Given the description of an element on the screen output the (x, y) to click on. 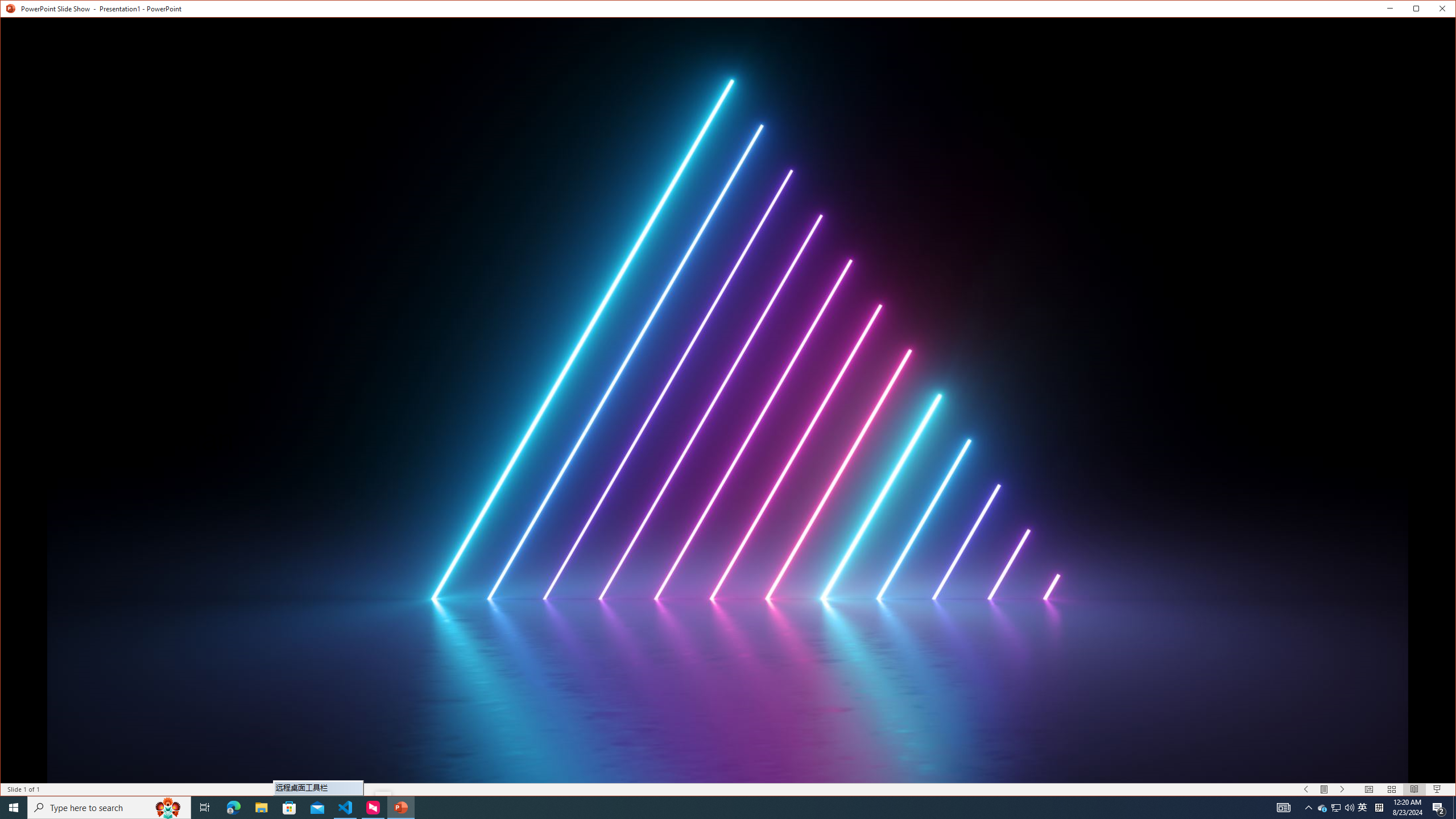
AutomationID: 4105 (1335, 807)
Slide Show Next On (1283, 807)
System (1342, 789)
Microsoft Store (10, 10)
Action Center, 2 new notifications (289, 807)
